Given the description of an element on the screen output the (x, y) to click on. 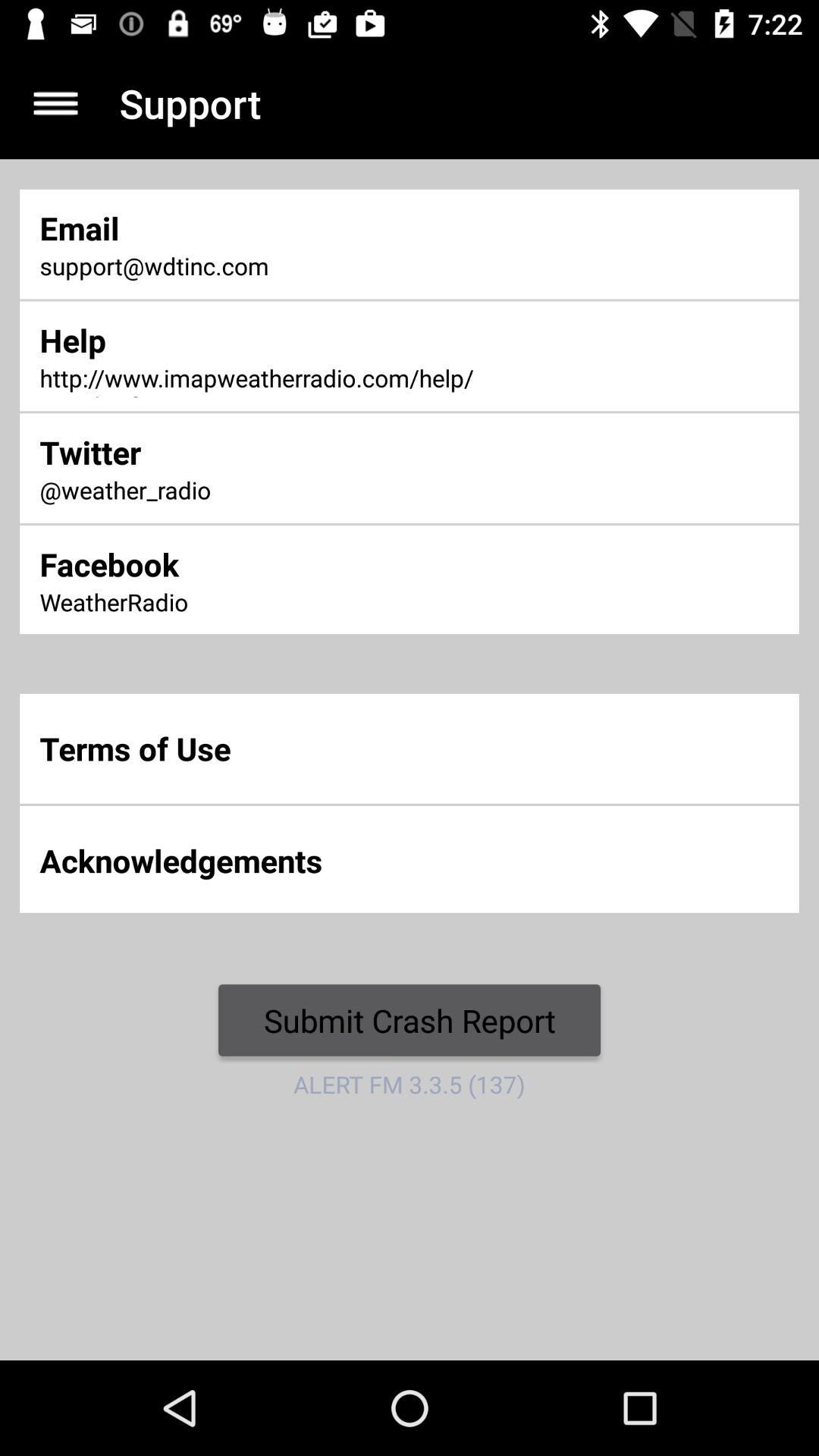
launch the item above twitter item (270, 379)
